Given the description of an element on the screen output the (x, y) to click on. 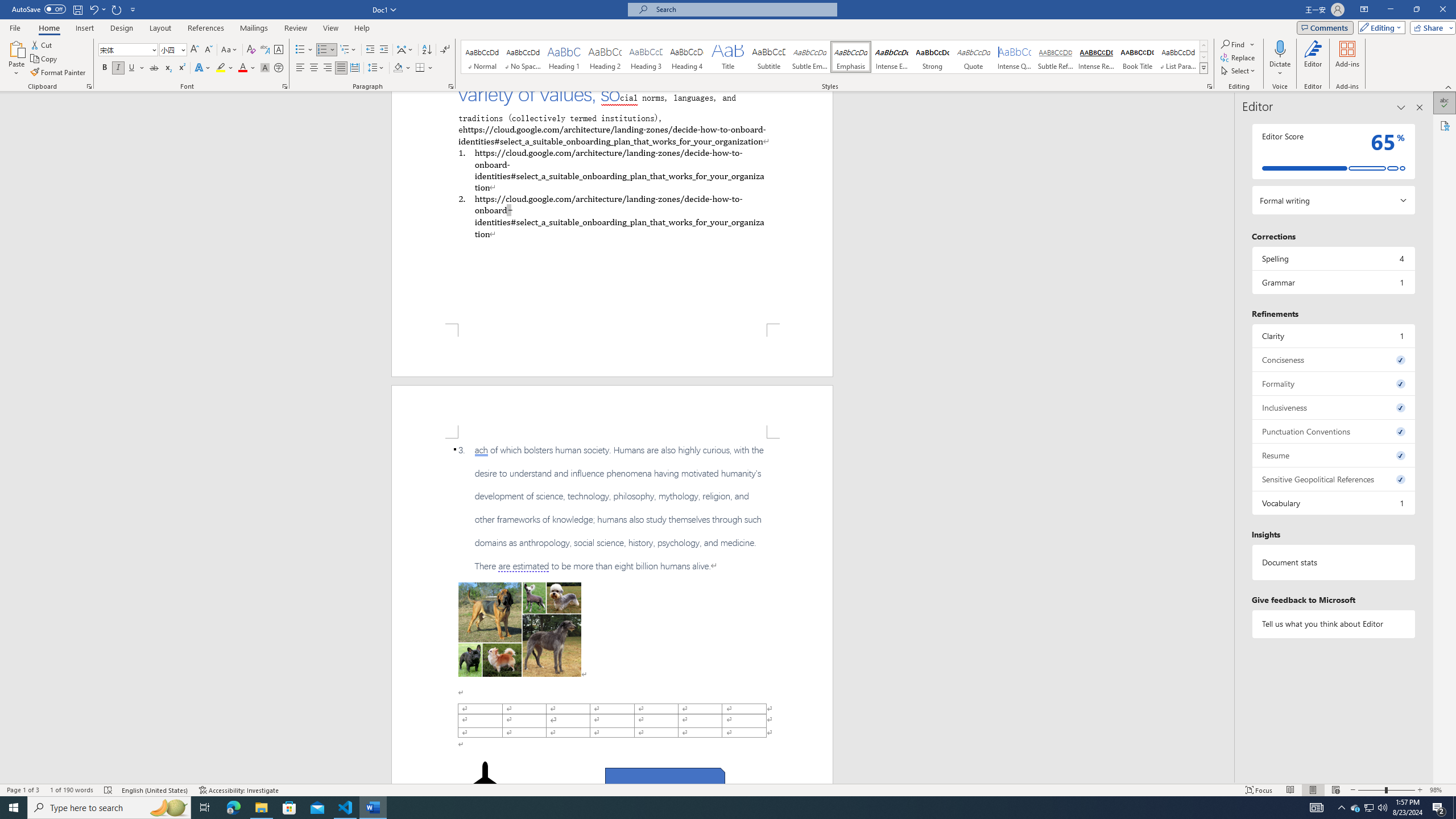
Rectangle: Diagonal Corners Snipped 2 (665, 781)
Heading 4 (686, 56)
Book Title (1136, 56)
